Given the description of an element on the screen output the (x, y) to click on. 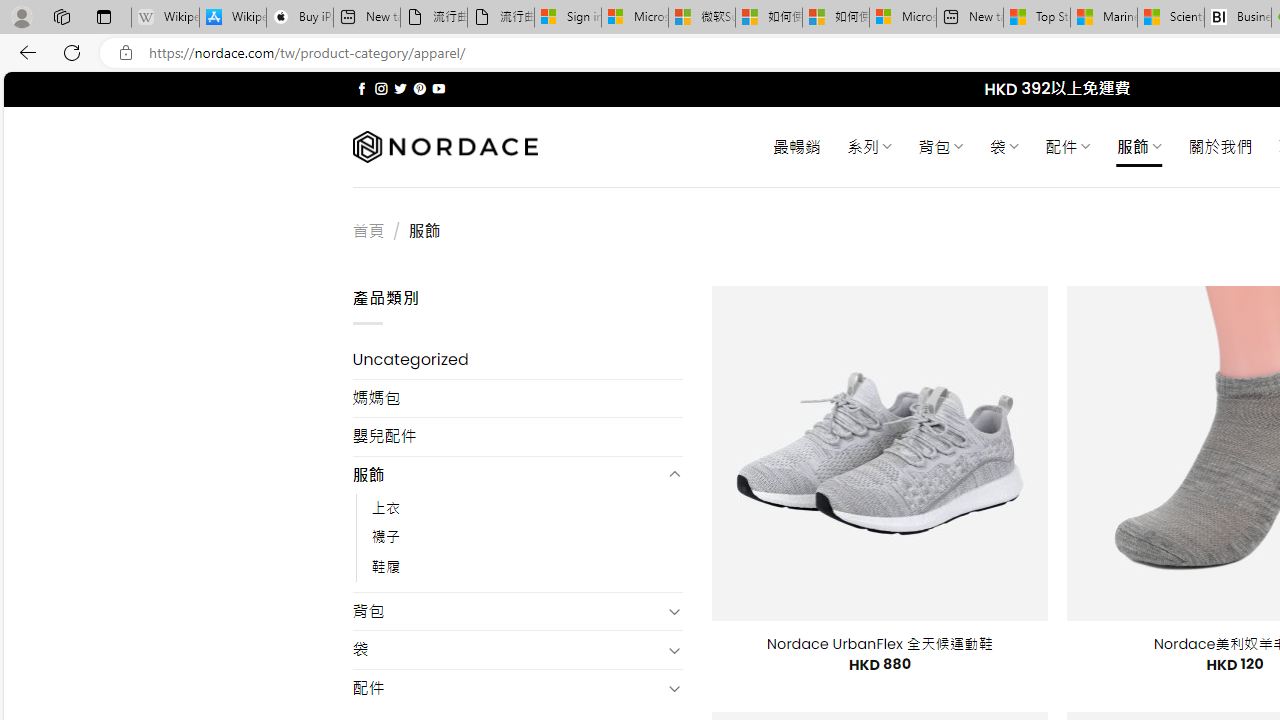
Follow on Twitter (400, 88)
